Given the description of an element on the screen output the (x, y) to click on. 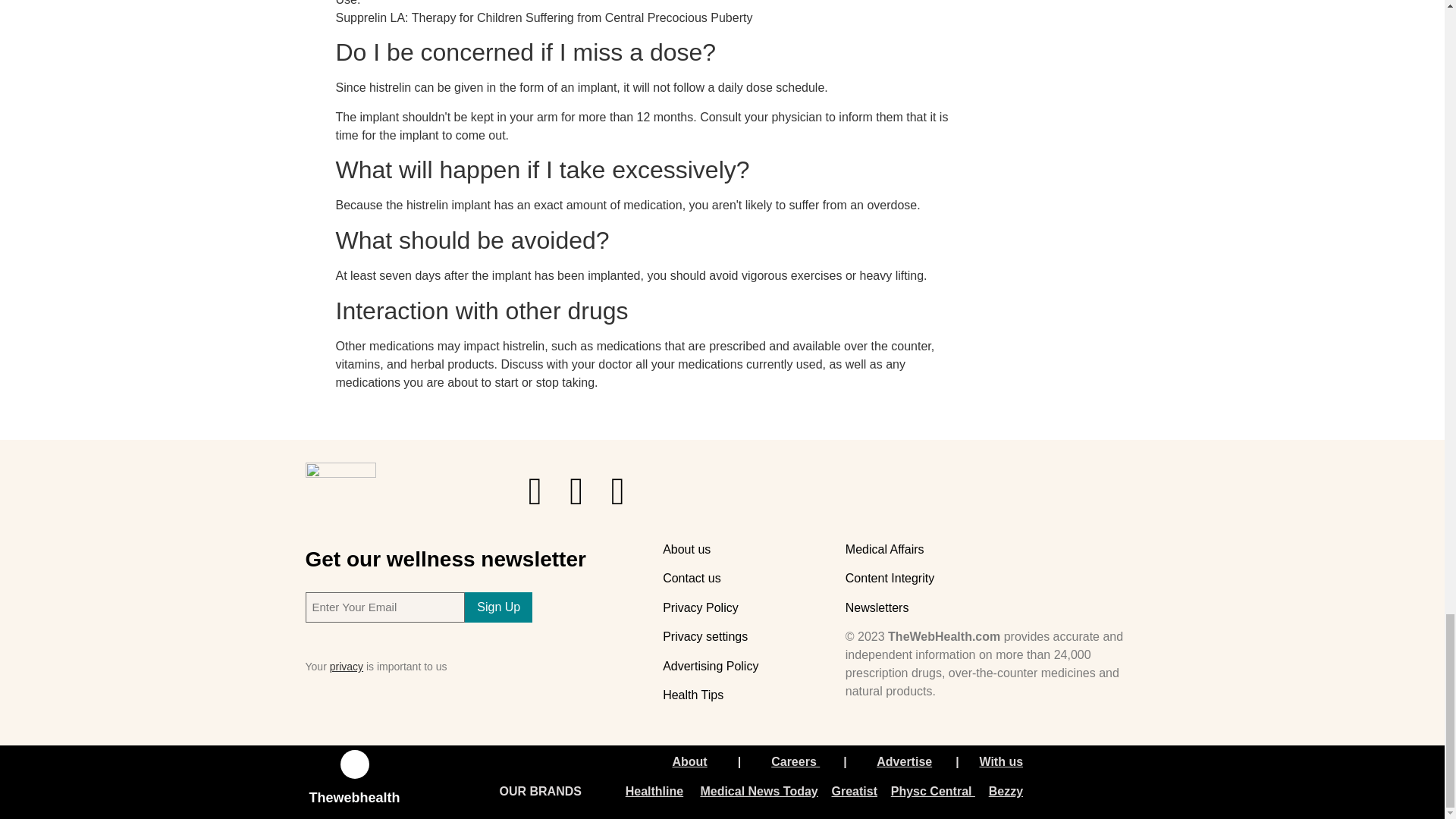
Sign Up (498, 607)
privacy (346, 666)
Sign Up (498, 607)
